Given the description of an element on the screen output the (x, y) to click on. 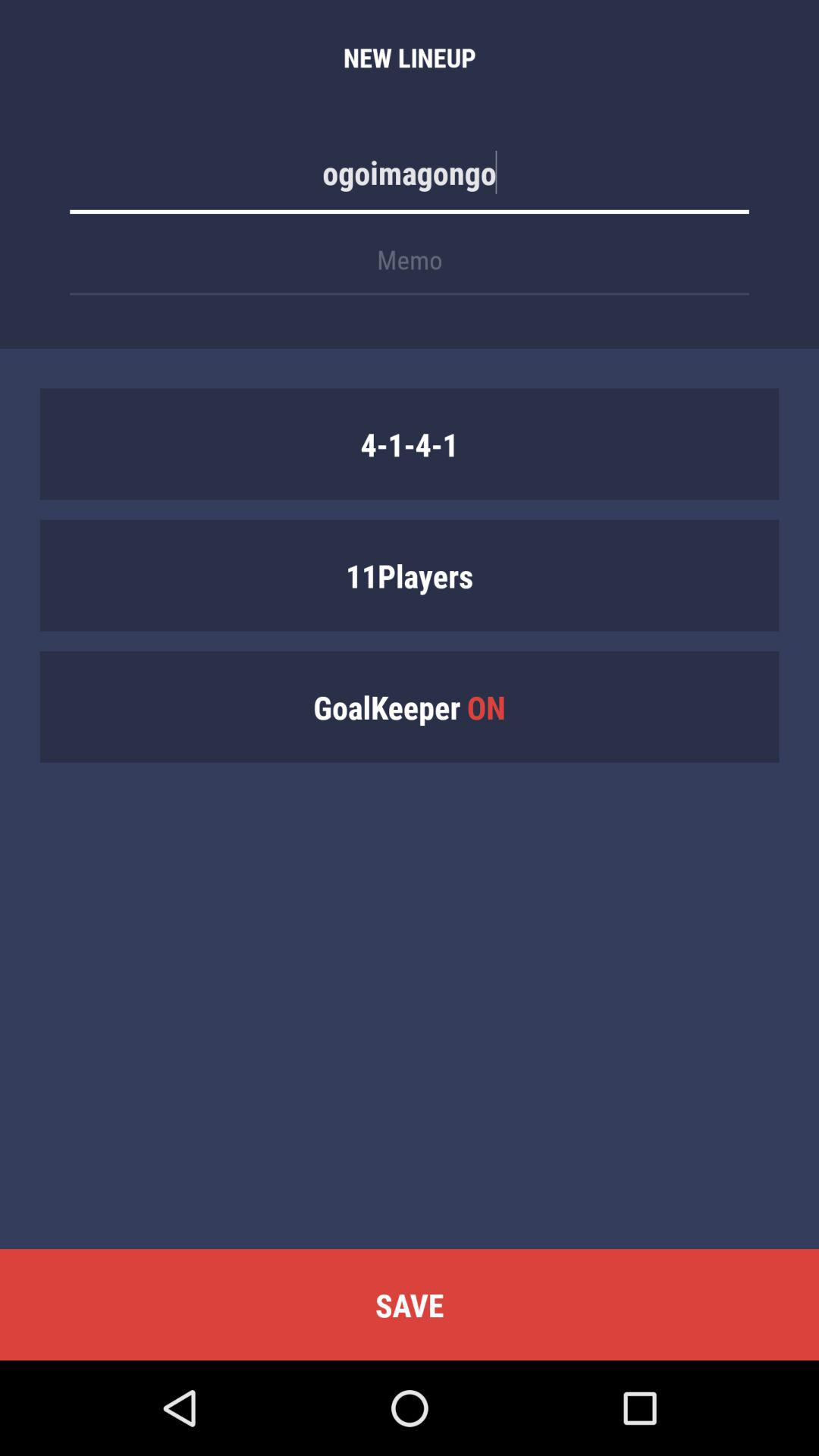
open the 4 1 4 icon (409, 443)
